Given the description of an element on the screen output the (x, y) to click on. 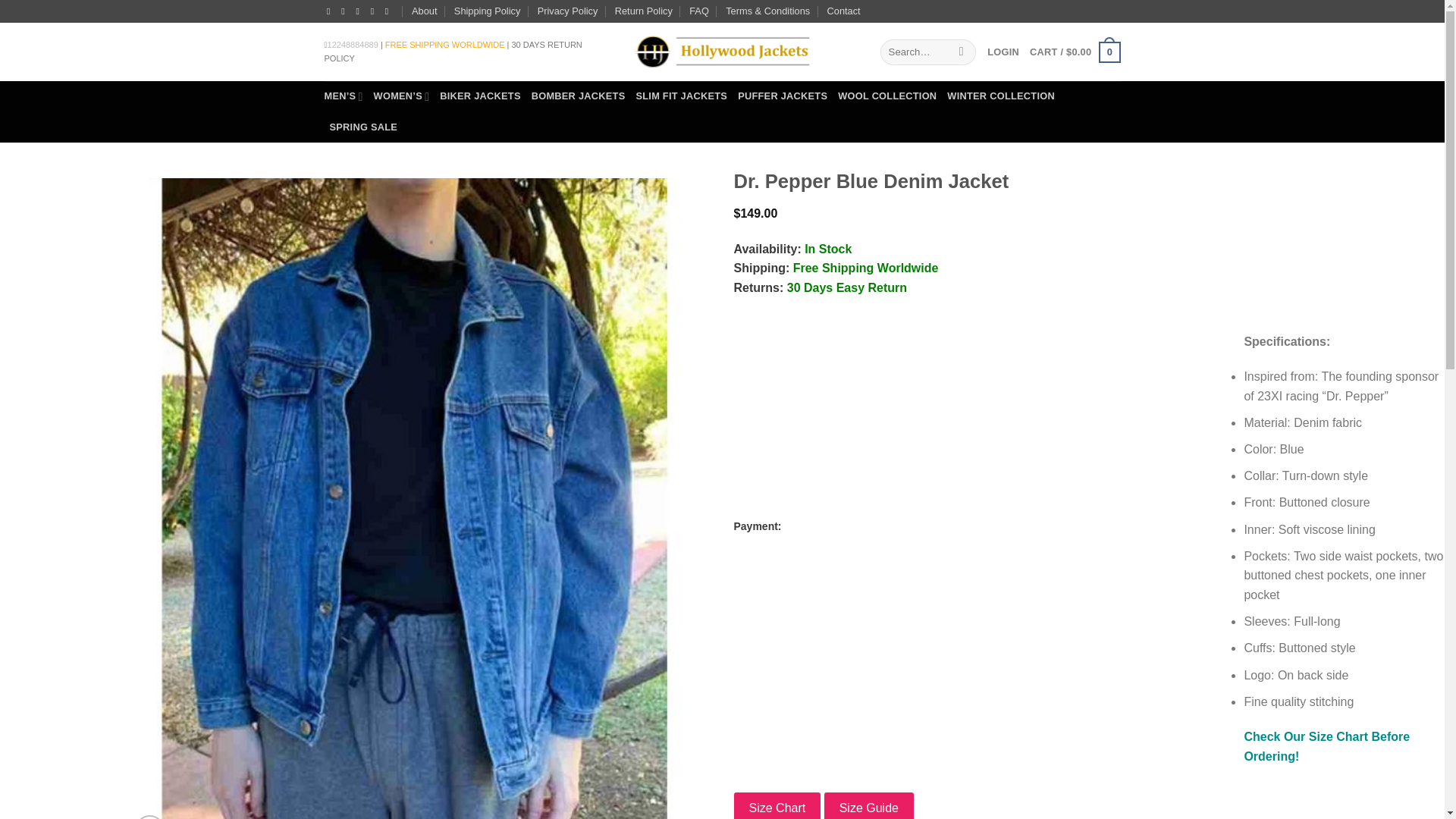
Privacy Policy (567, 11)
Hollywood Jackets - Hollywood Jackets (721, 52)
Contact (843, 11)
LOGIN (1003, 51)
Zoom (149, 816)
About (424, 11)
Cart (1074, 52)
12248884889 (352, 44)
